Given the description of an element on the screen output the (x, y) to click on. 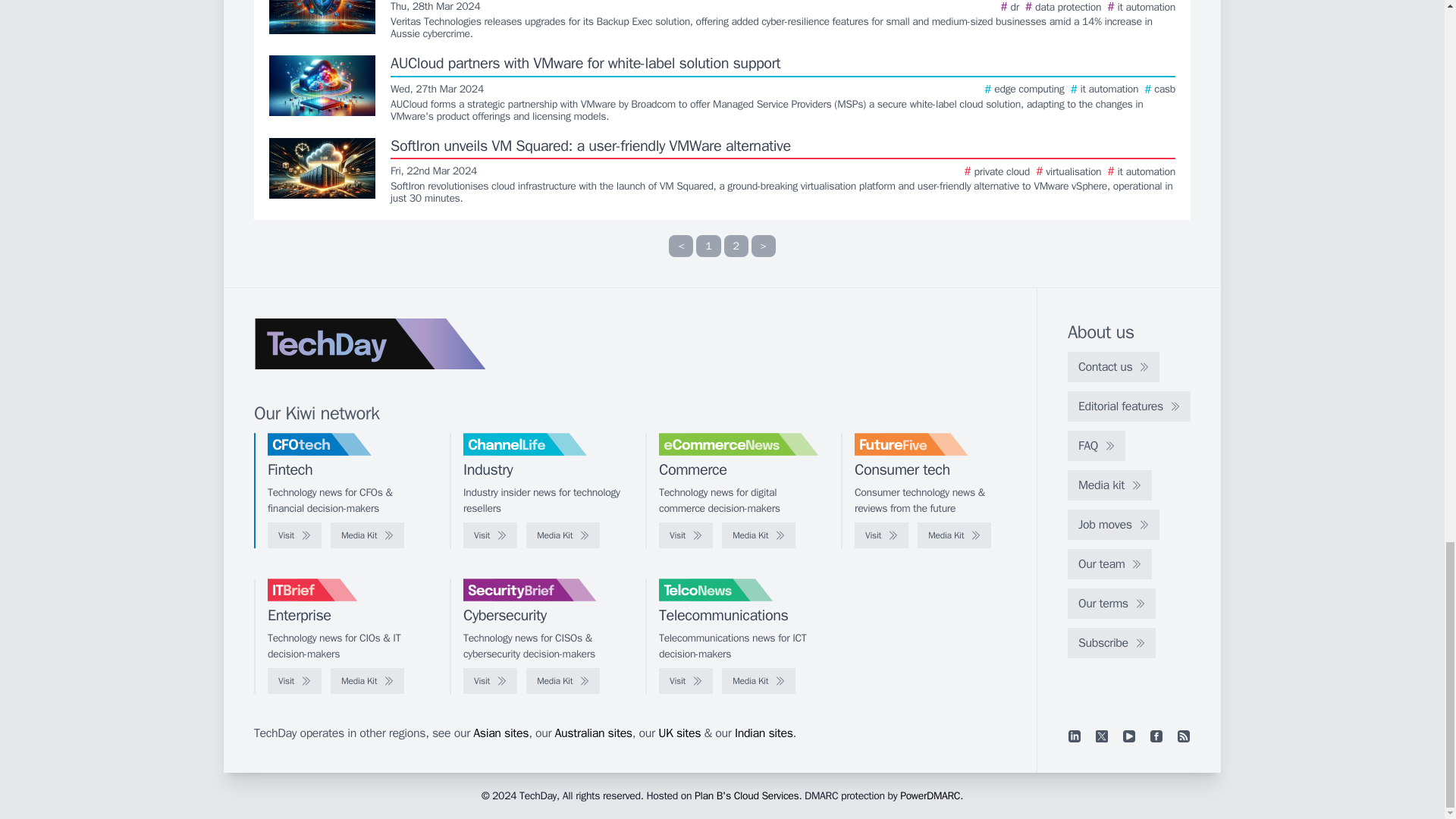
Media Kit (562, 534)
Media Kit (367, 534)
1 (707, 246)
2 (735, 246)
Visit (294, 534)
Visit (489, 534)
